Given the description of an element on the screen output the (x, y) to click on. 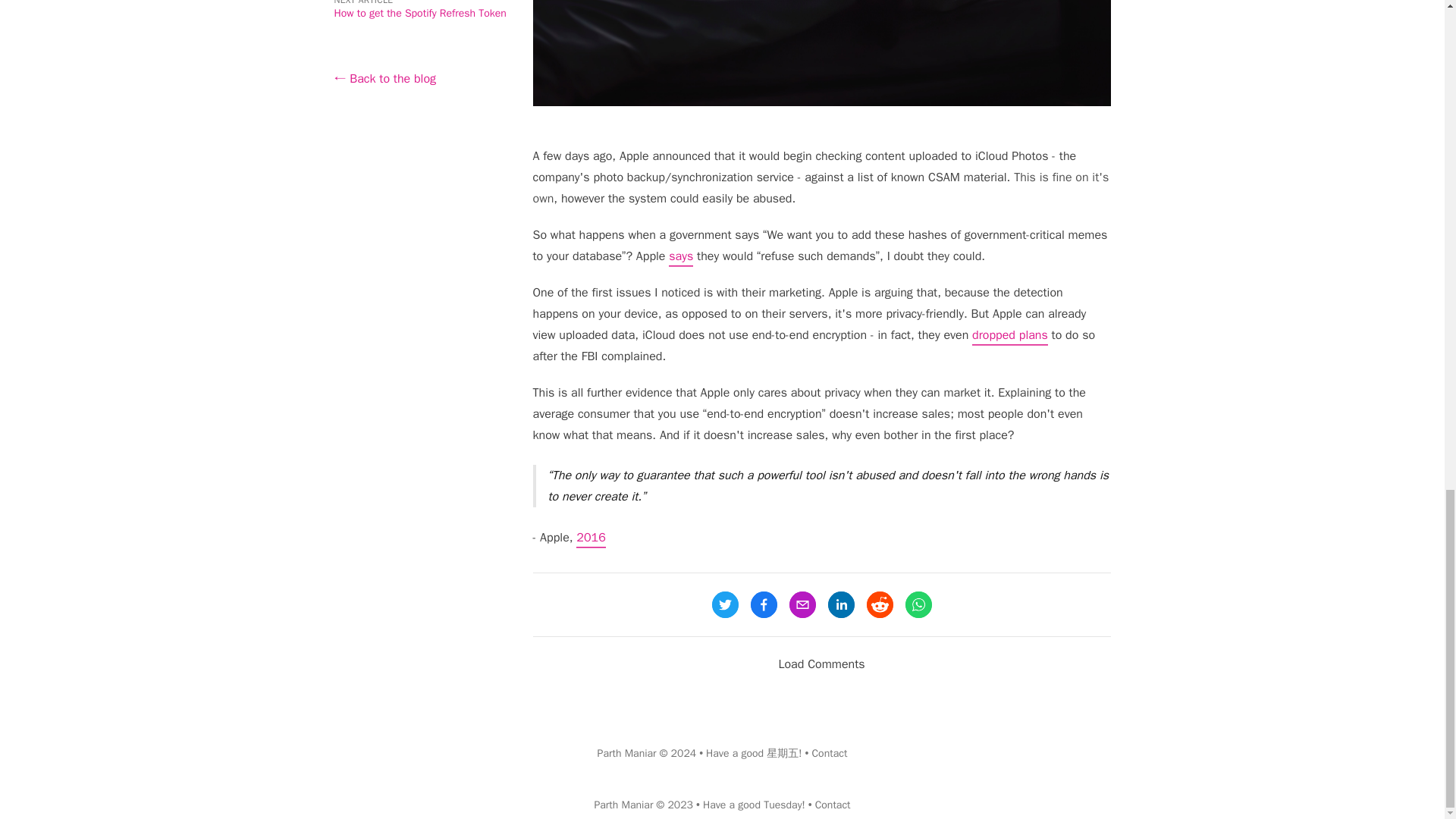
Load Comments (820, 664)
Contact (828, 753)
says (680, 257)
2016 (590, 538)
How to get the Spotify Refresh Token (419, 12)
dropped plans (1010, 336)
